Given the description of an element on the screen output the (x, y) to click on. 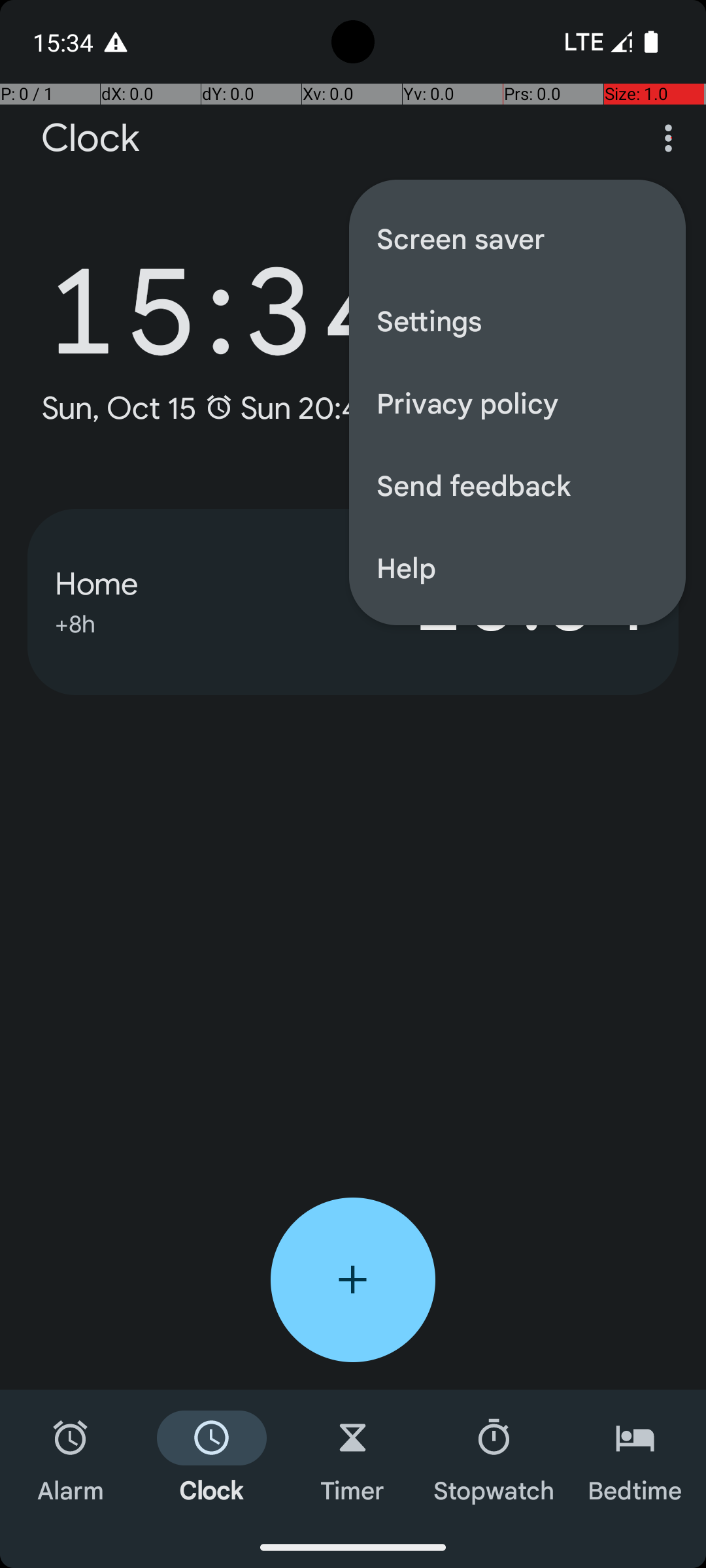
Screen saver Element type: android.widget.TextView (517, 237)
Privacy policy Element type: android.widget.TextView (517, 402)
Send feedback Element type: android.widget.TextView (517, 484)
Help Element type: android.widget.TextView (517, 566)
